Given the description of an element on the screen output the (x, y) to click on. 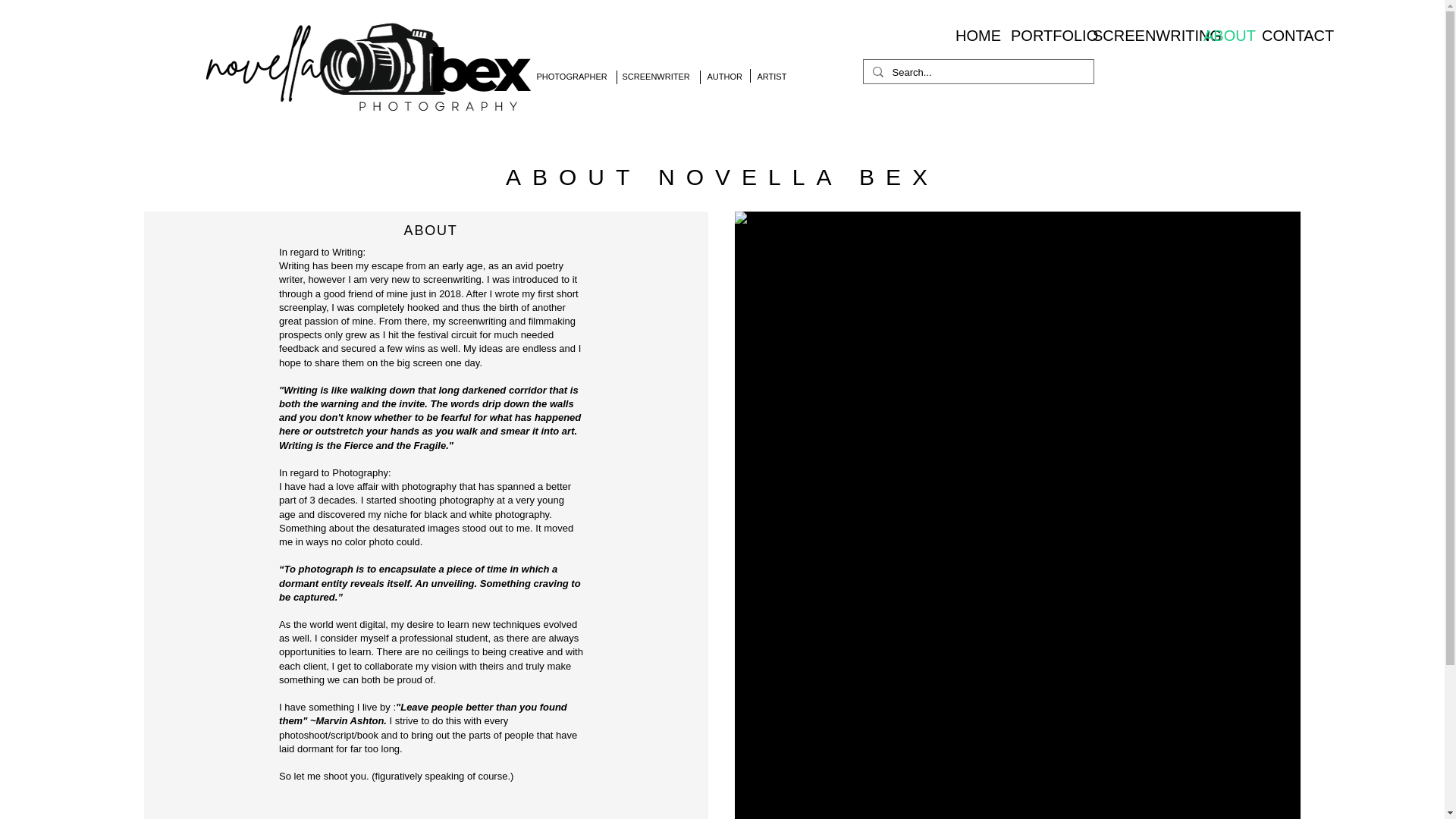
HOME (970, 35)
SCREENWRITING (1136, 35)
PORTFOLIO (1039, 35)
CONTACT (1286, 35)
ARTIST (771, 76)
PHOTOGRAPHER (572, 76)
SCREENWRITER (654, 76)
ABOUT (1221, 35)
AUTHOR (723, 76)
